Given the description of an element on the screen output the (x, y) to click on. 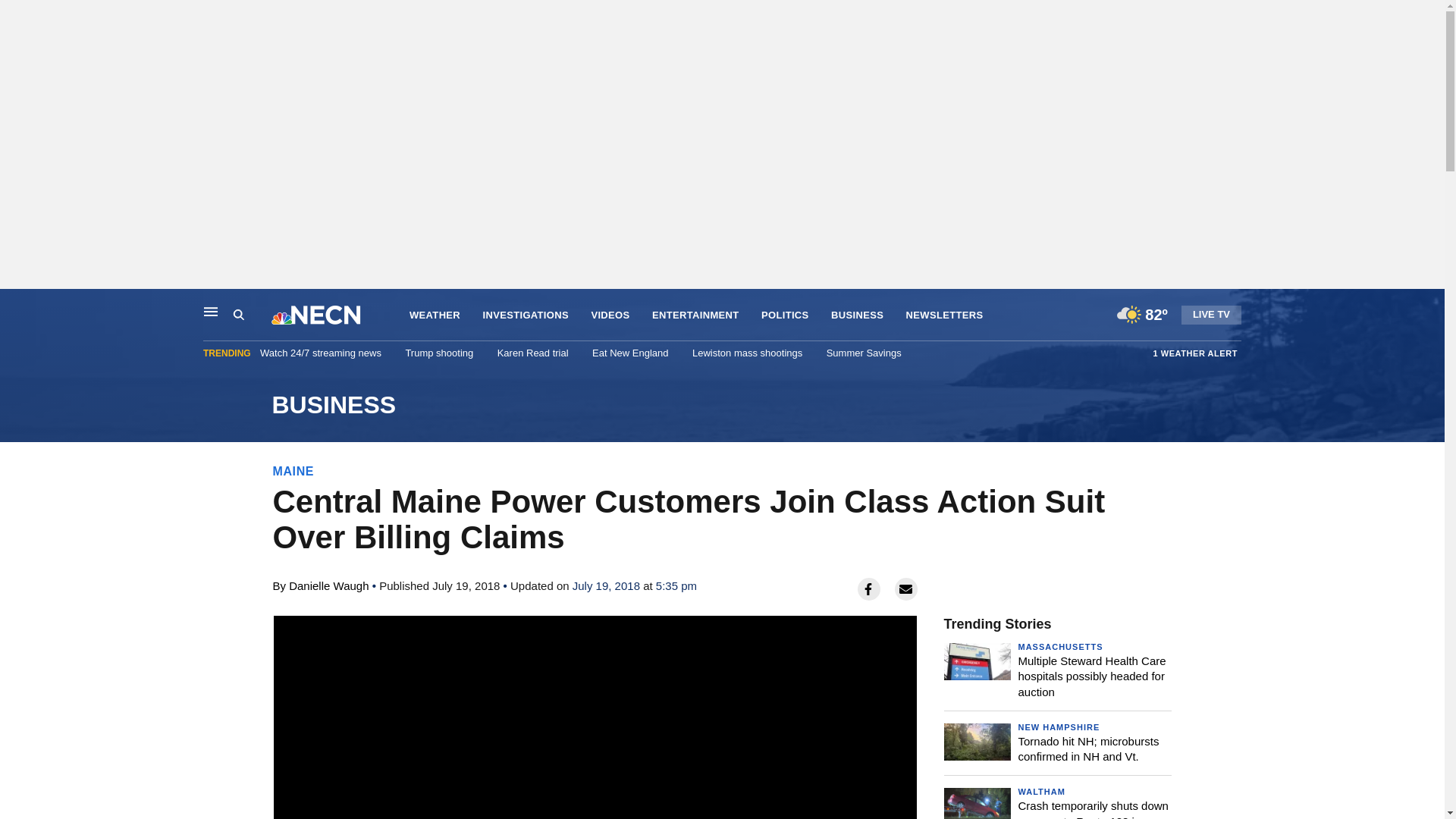
Summer Savings (864, 352)
Main Navigation (210, 311)
BUSINESS (721, 405)
ENTERTAINMENT (695, 315)
Skip to content (16, 304)
LIVE TV (1210, 313)
Trump shooting (438, 352)
1 WEATHER ALERT (1195, 352)
MAINE (293, 471)
Karen Read trial (533, 352)
Search (238, 314)
NEWSLETTERS (944, 315)
INVESTIGATIONS (526, 315)
BUSINESS (857, 315)
